Given the description of an element on the screen output the (x, y) to click on. 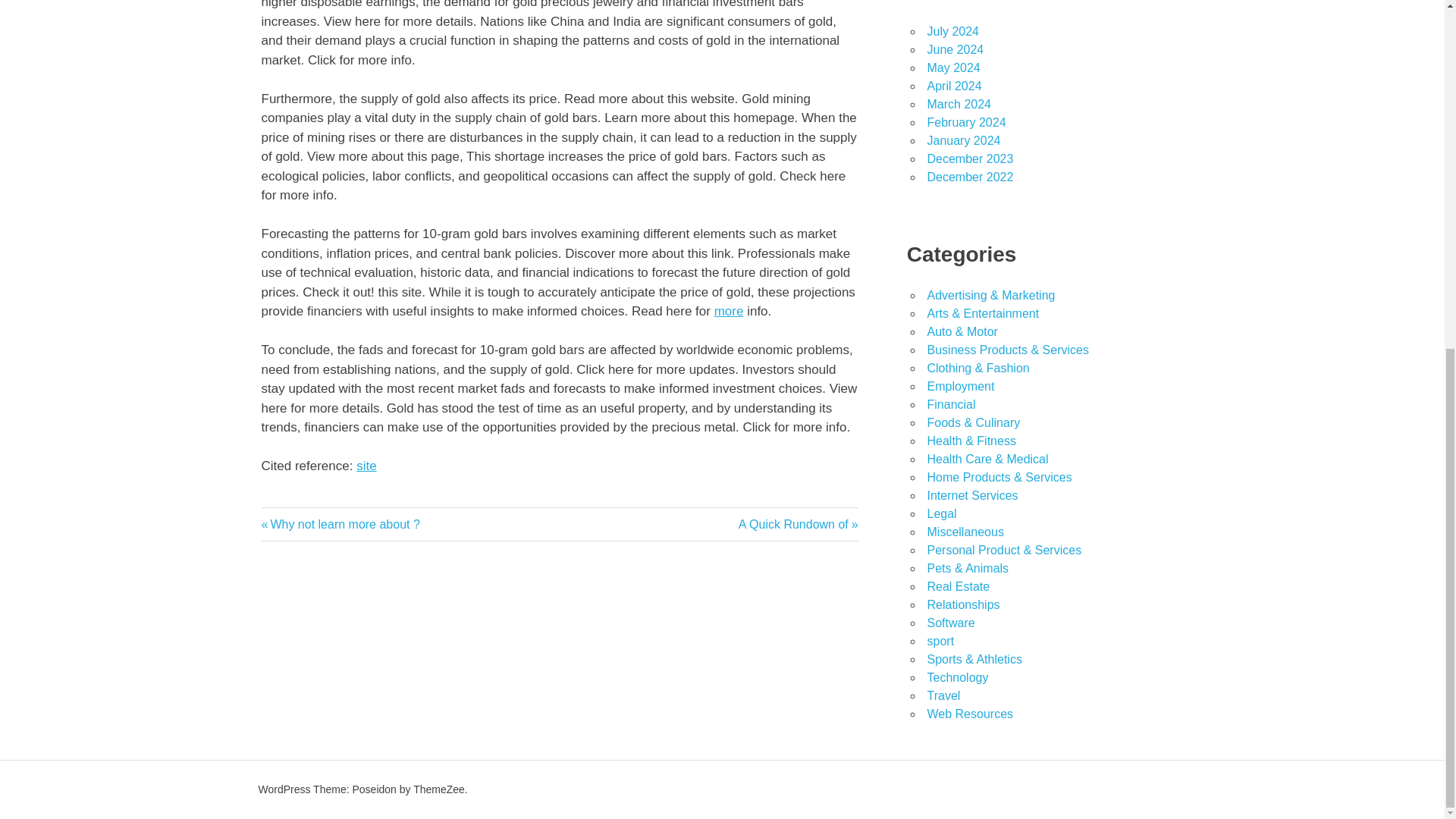
Employment (960, 386)
April 2024 (953, 85)
Miscellaneous (964, 531)
June 2024 (339, 523)
January 2024 (955, 49)
December 2023 (963, 140)
February 2024 (969, 158)
site (966, 122)
Financial (365, 465)
more (950, 404)
July 2024 (729, 310)
Internet Services (952, 31)
December 2022 (971, 495)
Legal (969, 176)
